Given the description of an element on the screen output the (x, y) to click on. 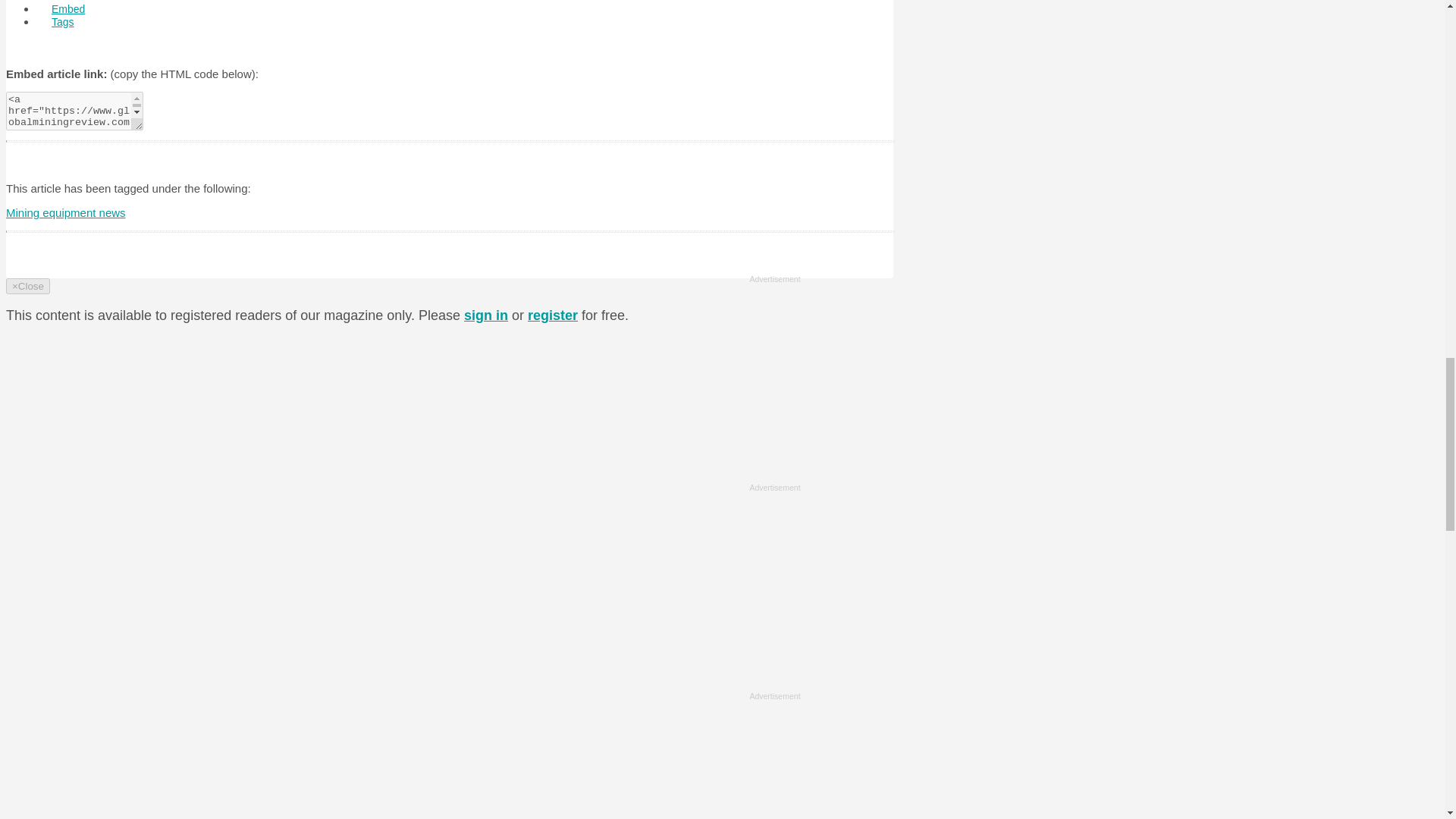
sign in (486, 314)
Mining equipment news (65, 212)
register (552, 314)
Embed (68, 11)
Tags (62, 22)
